Given the description of an element on the screen output the (x, y) to click on. 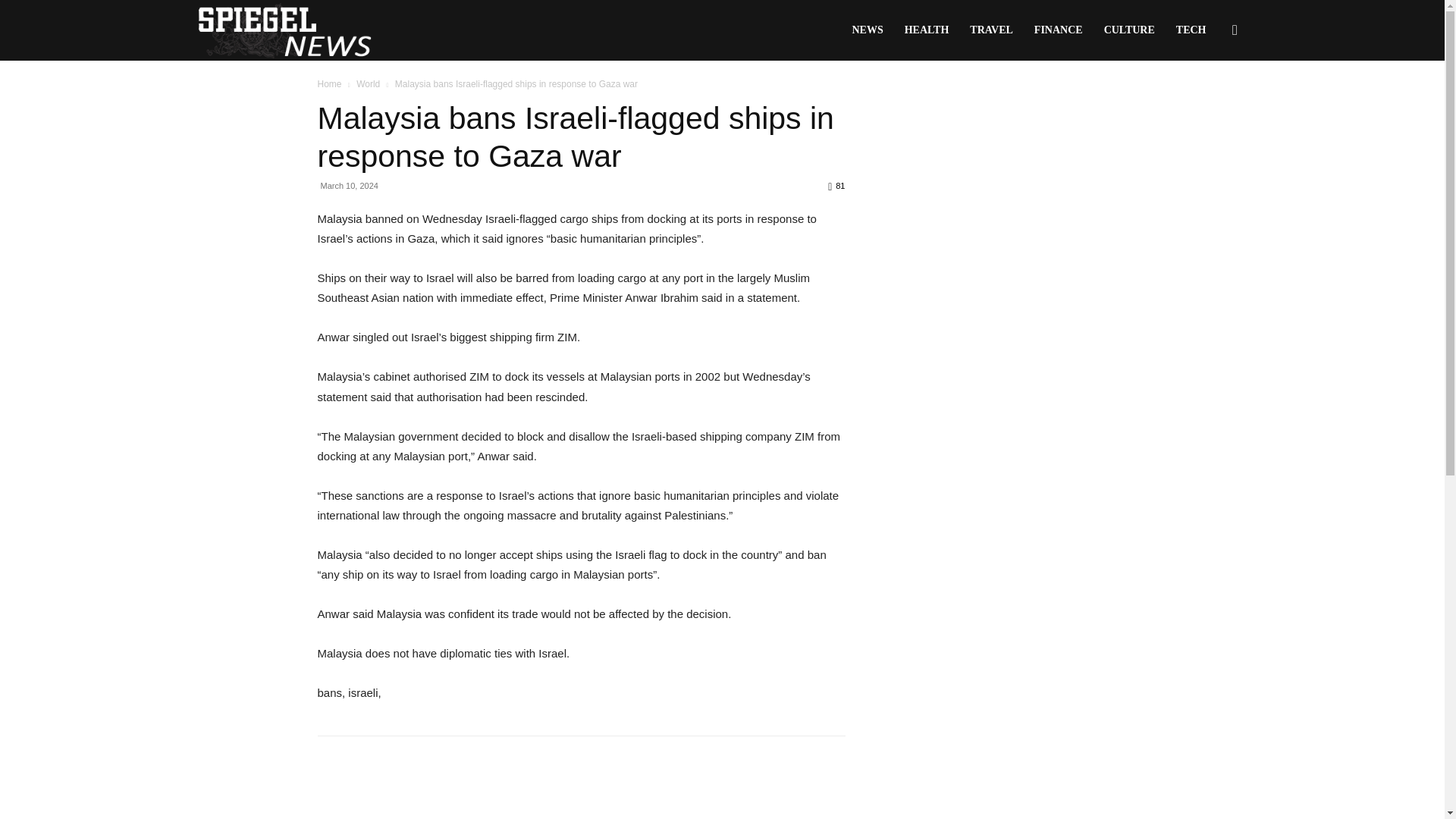
Search (1210, 102)
CULTURE (1129, 30)
Spiegel News (284, 30)
World (368, 83)
TECH (1191, 30)
View all posts in World (368, 83)
Home (328, 83)
TRAVEL (991, 30)
FINANCE (1058, 30)
NEWS (867, 30)
HEALTH (926, 30)
